Given the description of an element on the screen output the (x, y) to click on. 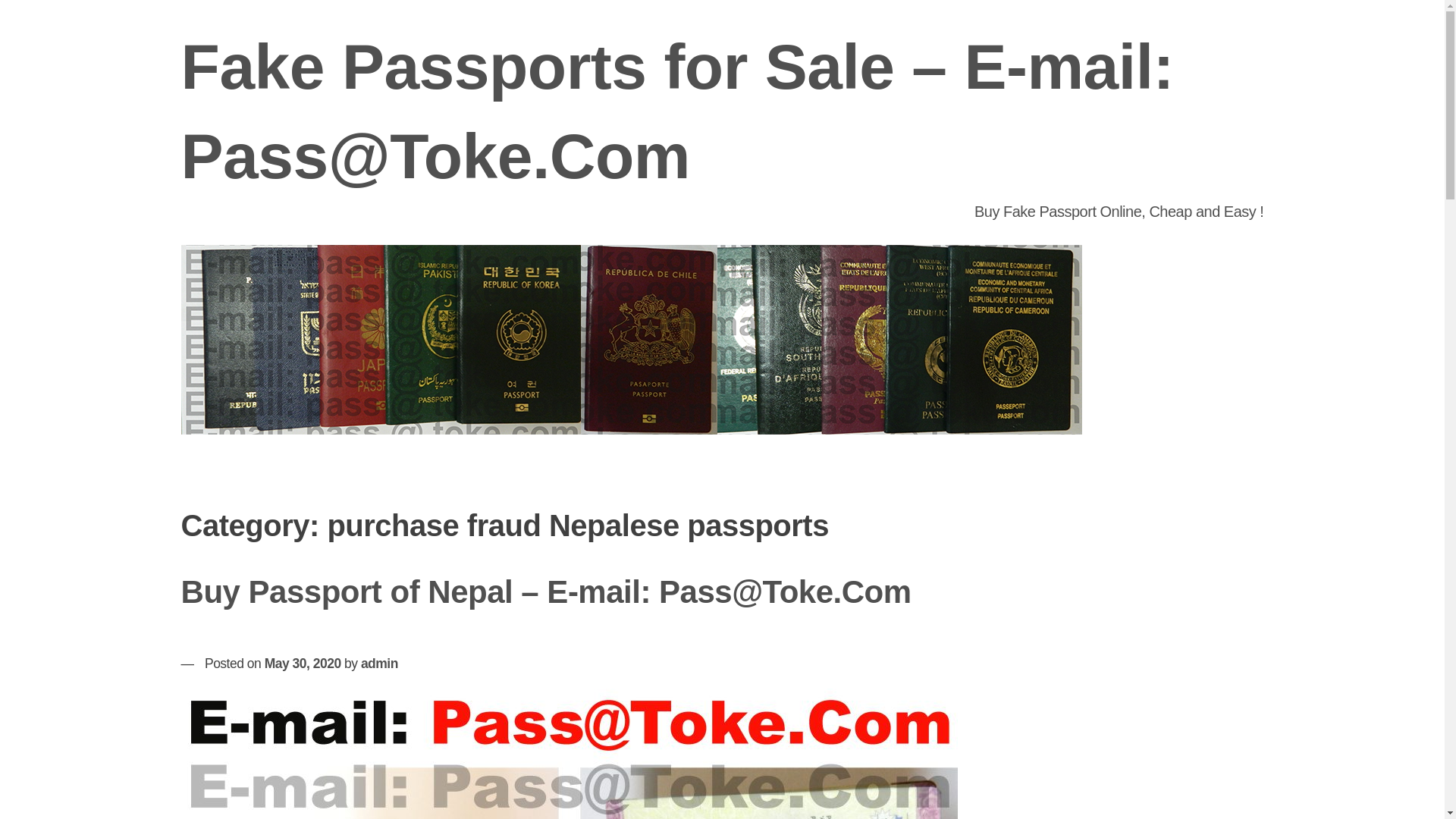
Buy Passport of Nepal (569, 753)
